Given the description of an element on the screen output the (x, y) to click on. 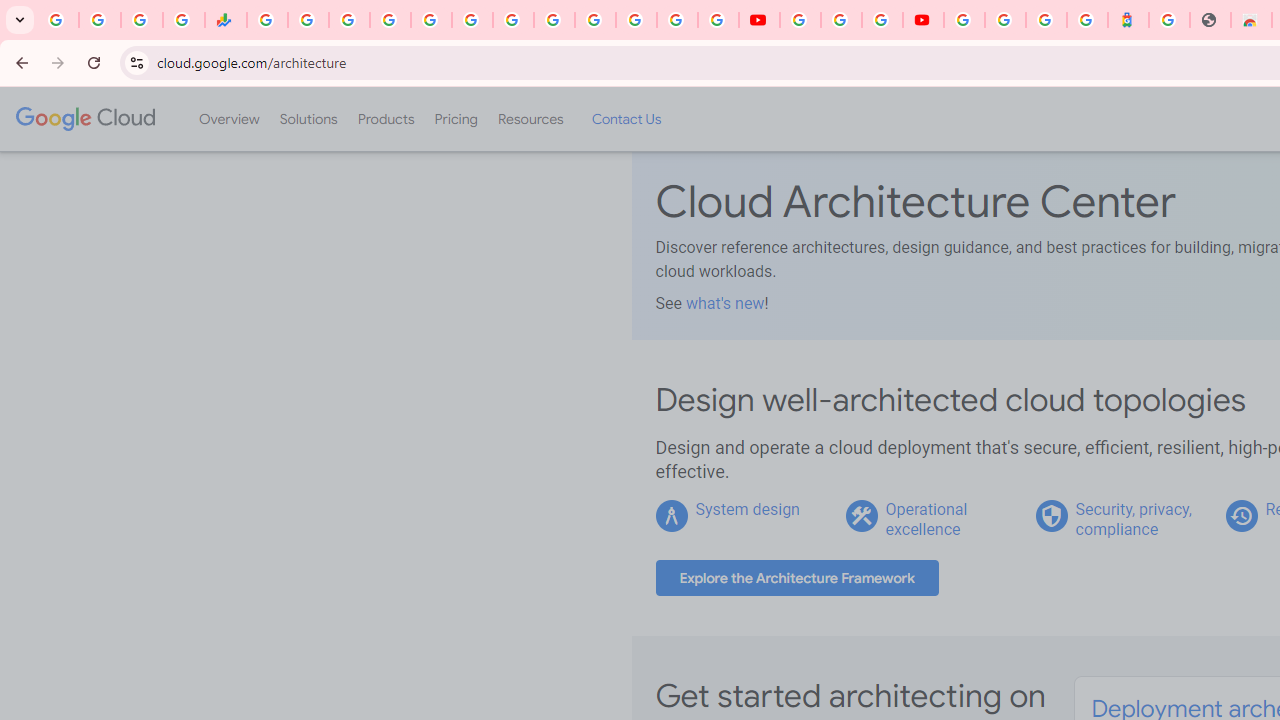
Sign in - Google Accounts (594, 20)
YouTube (758, 20)
Products (385, 119)
Privacy Checkup (717, 20)
Google Workspace Admin Community (58, 20)
Create your Google Account (881, 20)
Atour Hotel - Google hotels (1128, 20)
YouTube (799, 20)
Sign in - Google Accounts (964, 20)
